Given the description of an element on the screen output the (x, y) to click on. 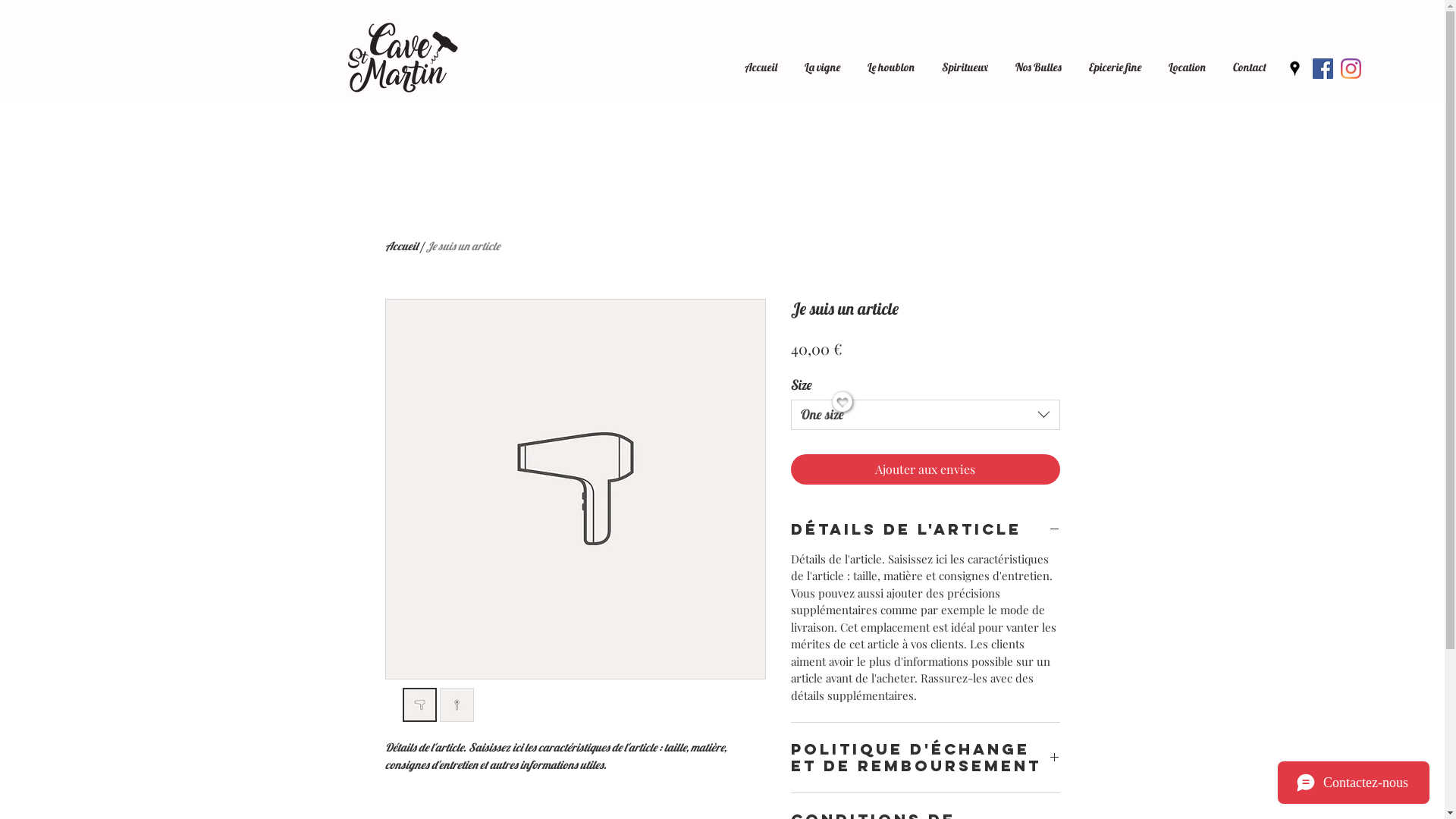
Je suis un article Element type: text (462, 245)
La vigne Element type: text (821, 60)
Epicerie fine Element type: text (1114, 60)
Nos Bulles Element type: text (1038, 60)
Ajouter aux envies Element type: text (924, 469)
Le houblon Element type: text (890, 60)
Accueil Element type: text (401, 245)
One size Element type: text (924, 414)
Spiritueux Element type: text (964, 60)
Accueil Element type: text (760, 60)
